Given the description of an element on the screen output the (x, y) to click on. 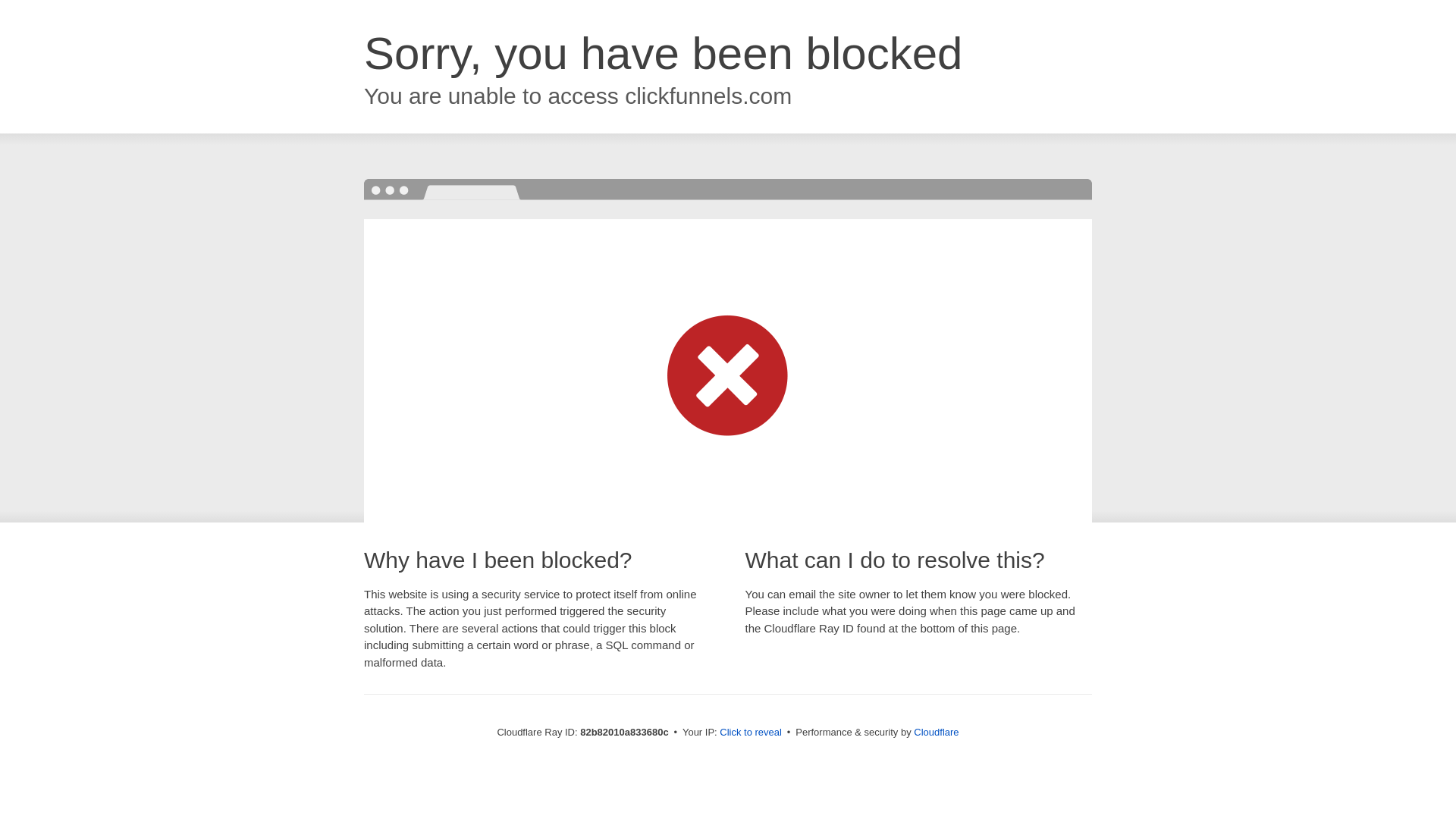
Click to reveal Element type: text (750, 732)
Cloudflare Element type: text (935, 731)
